Given the description of an element on the screen output the (x, y) to click on. 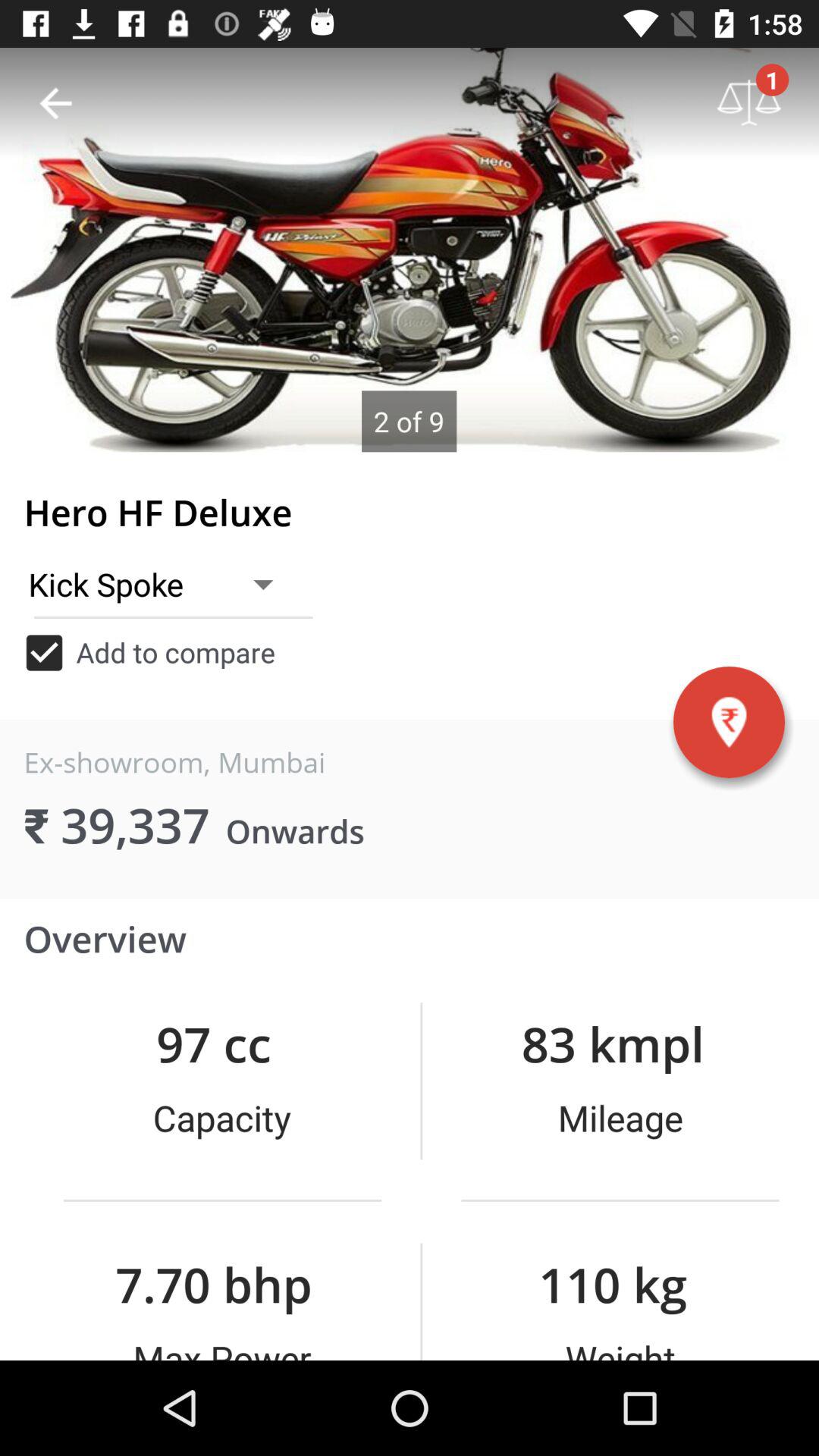
tap item above the ex-showroom, mumbai (149, 652)
